Given the description of an element on the screen output the (x, y) to click on. 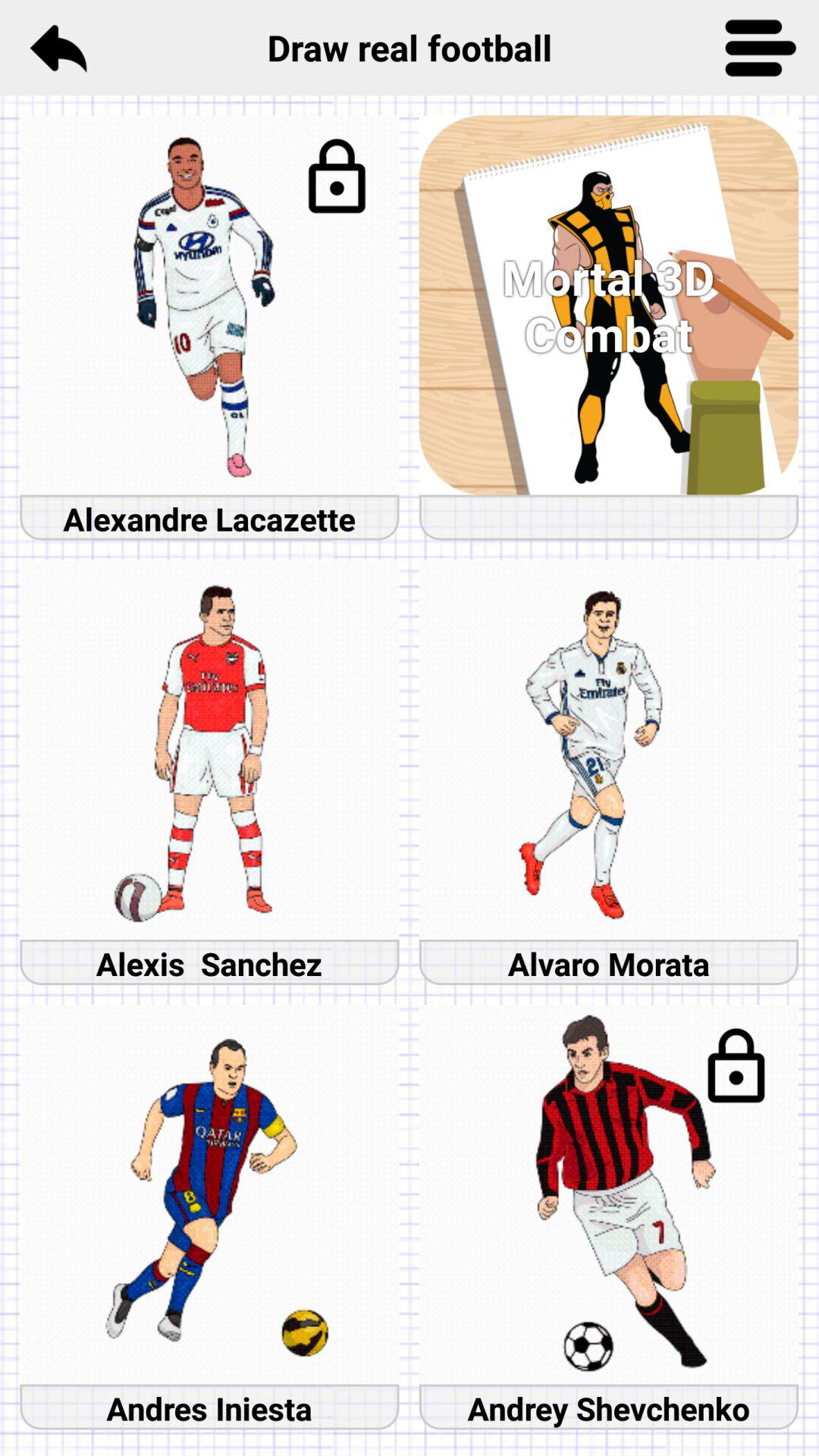
menu button (760, 47)
